Given the description of an element on the screen output the (x, y) to click on. 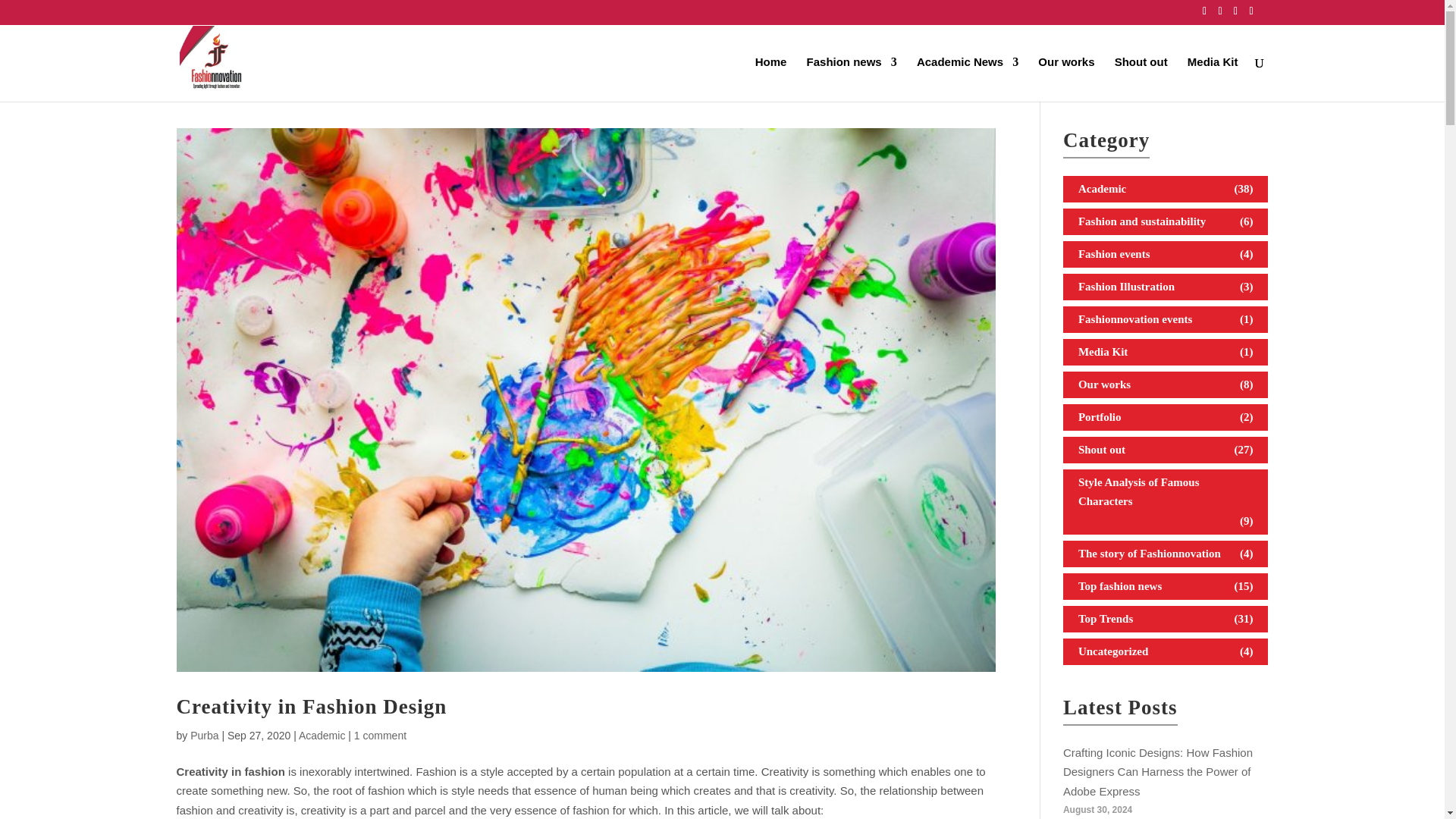
Our works (1066, 78)
Posts by Purba (204, 735)
Academic (321, 735)
Purba (204, 735)
Academic News (967, 78)
Shout out (1141, 78)
Media Kit (1213, 78)
Creativity in Fashion Design (311, 706)
Fashion news (851, 78)
1 comment (379, 735)
